Given the description of an element on the screen output the (x, y) to click on. 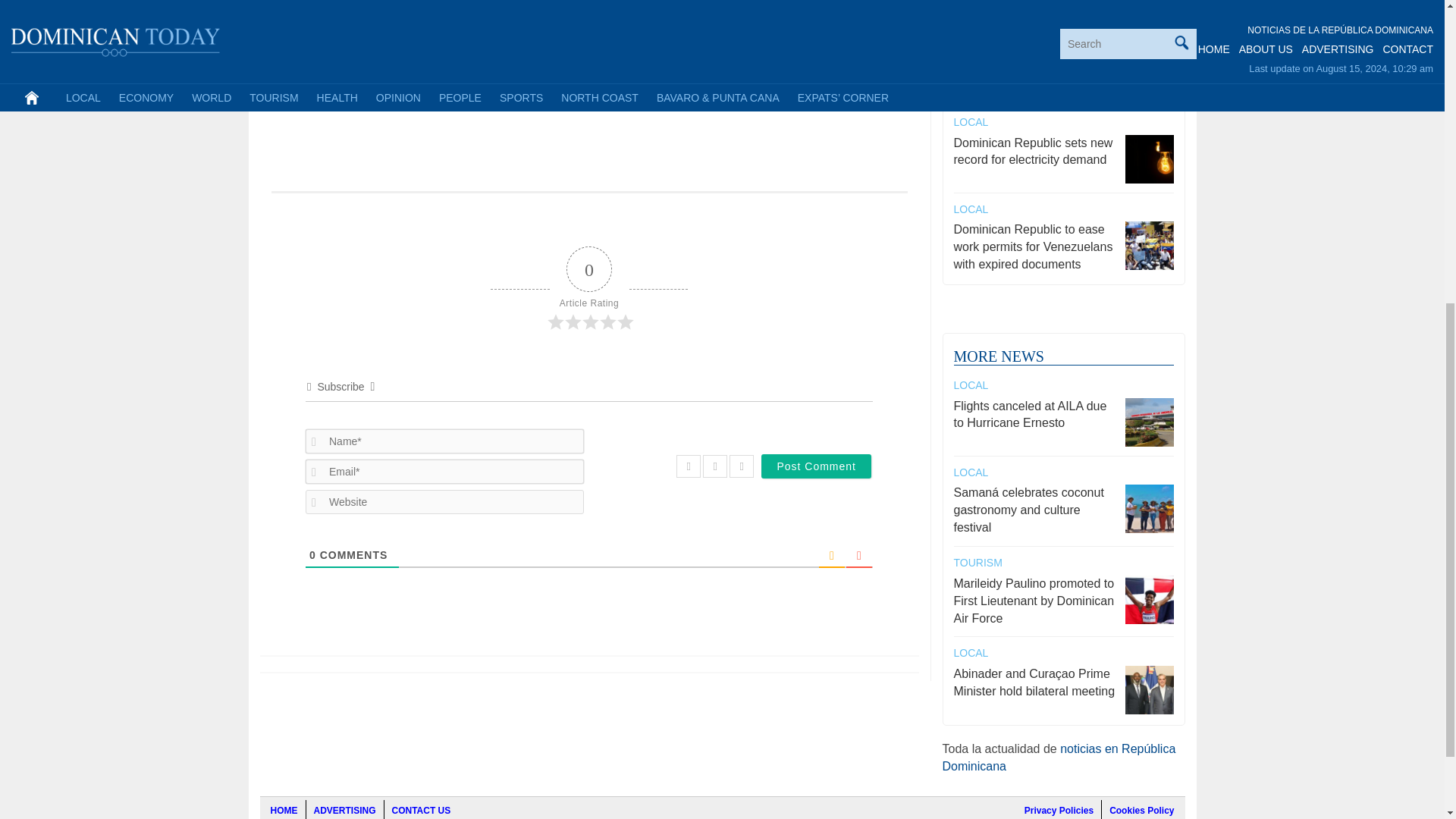
Post Comment (815, 466)
Post Comment (815, 466)
Advertisement (588, 91)
